Given the description of an element on the screen output the (x, y) to click on. 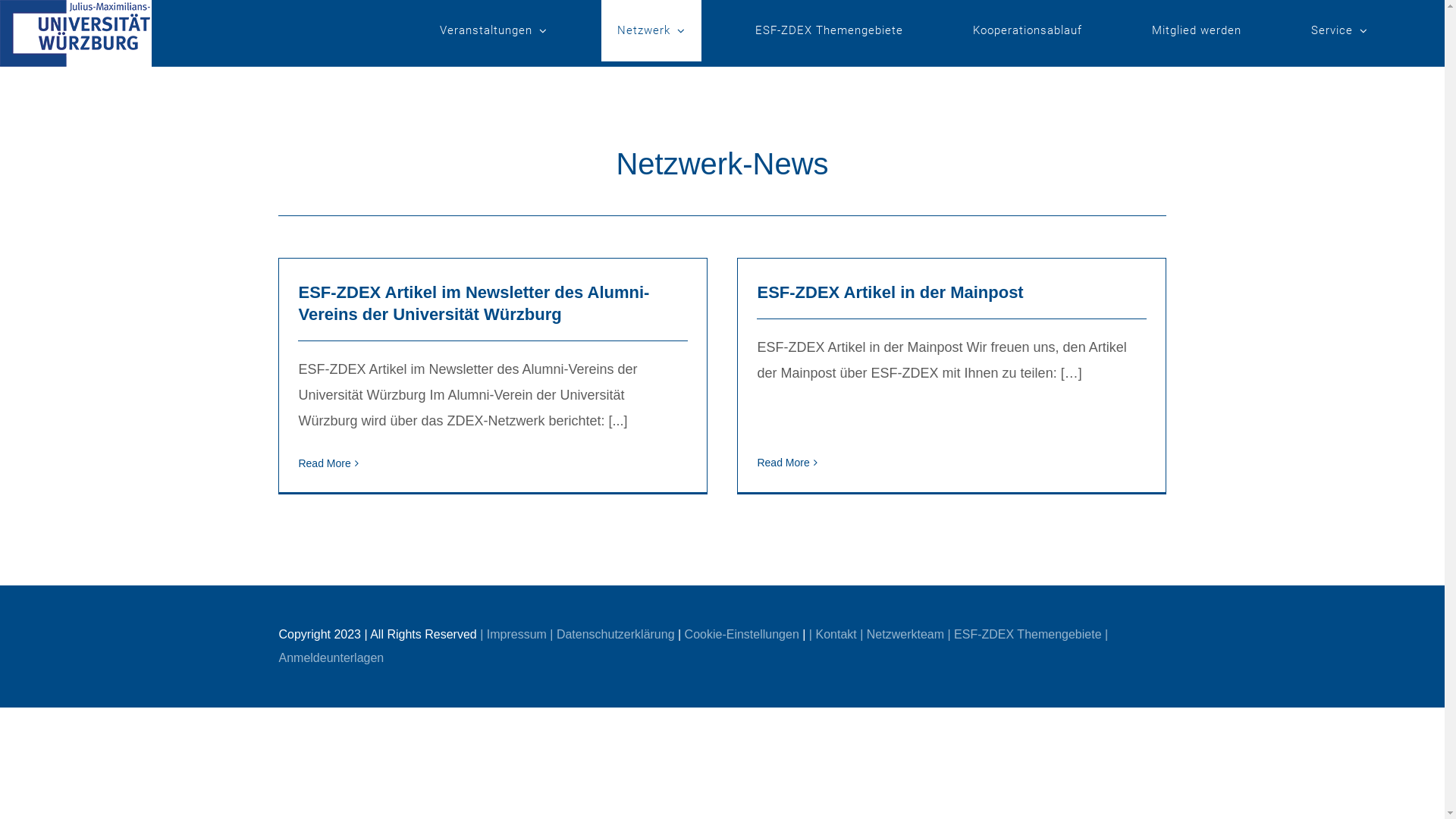
Veranstaltungen Element type: text (493, 30)
| Netzwerkteam Element type: text (901, 633)
Read More Element type: text (324, 463)
ESF-ZDEX Artikel in der Mainpost Element type: text (889, 291)
| Kontakt Element type: text (832, 633)
Read More Element type: text (782, 462)
Netzwerk Element type: text (651, 30)
ESF-ZDEX Themengebiete Element type: text (829, 30)
Cookie-Einstellungen Element type: text (741, 633)
Mitglied werden Element type: text (1196, 30)
| Impressum Element type: text (513, 633)
| ESF-ZDEX Themengebiete Element type: text (1024, 633)
| Anmeldeunterlagen Element type: text (693, 645)
Kooperationsablauf Element type: text (1027, 30)
Service Element type: text (1339, 30)
